Given the description of an element on the screen output the (x, y) to click on. 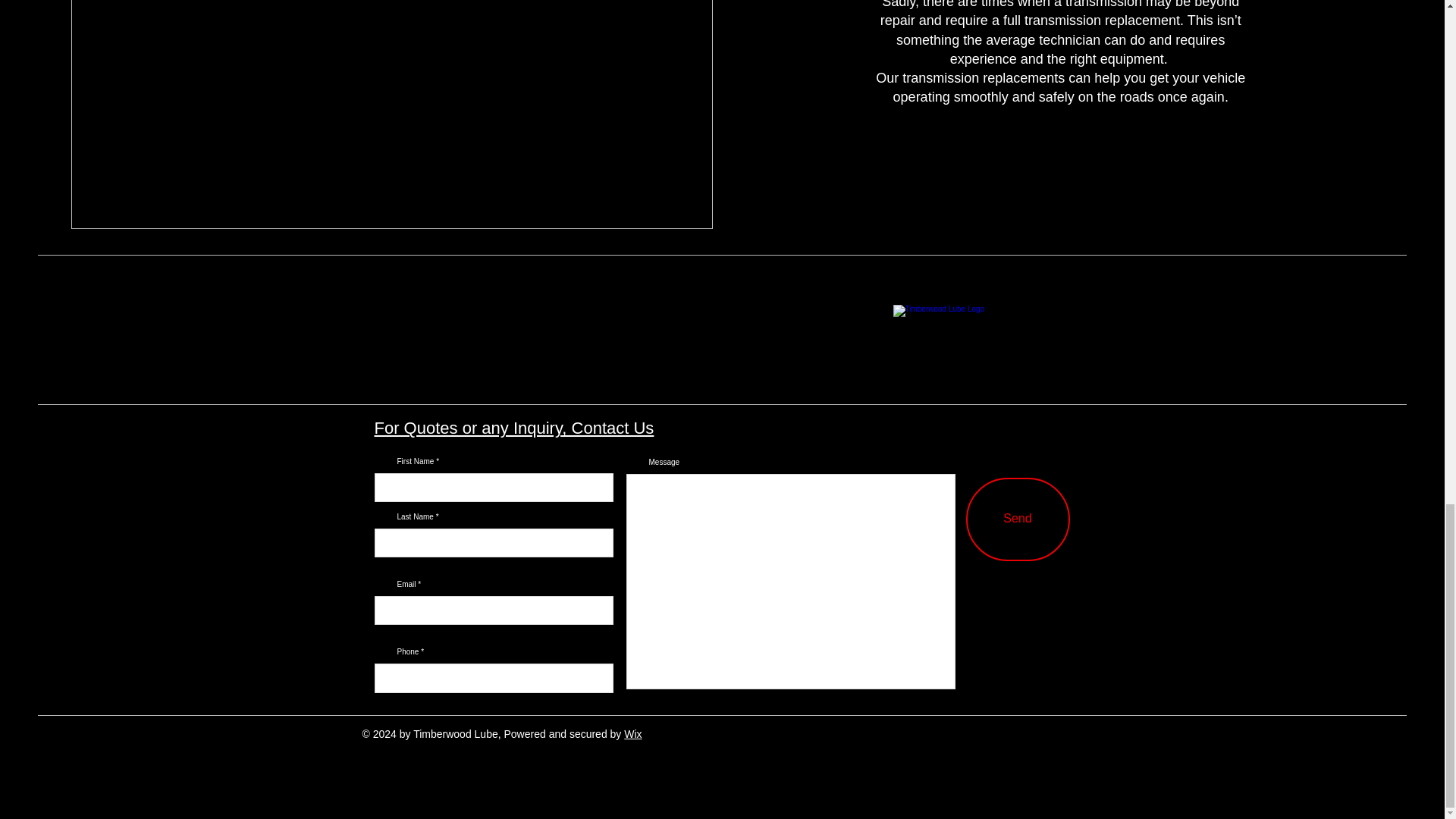
Send (1018, 519)
Timberwood Lube (1000, 338)
Wix (633, 734)
